Given the description of an element on the screen output the (x, y) to click on. 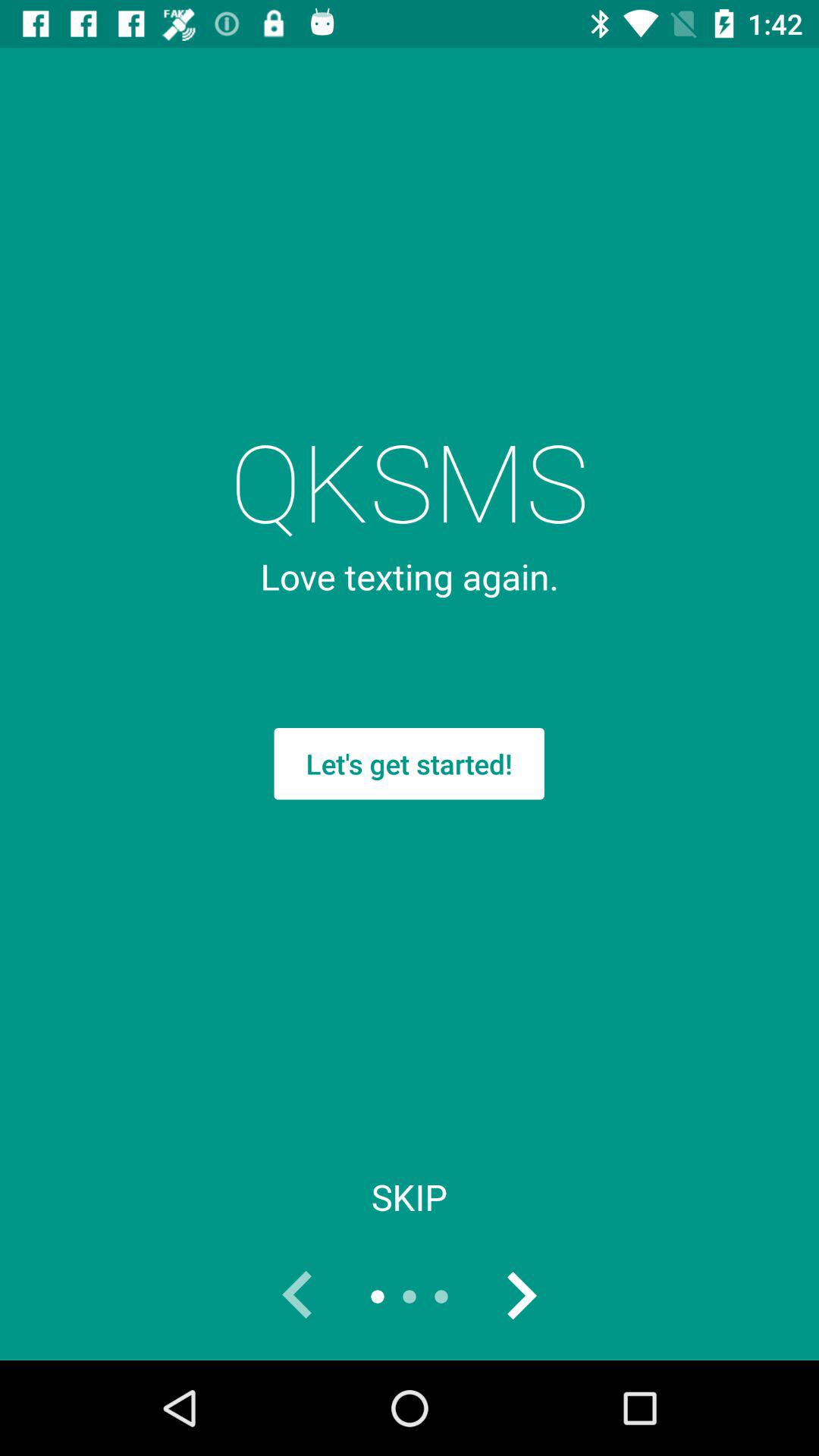
scroll until the let s get (409, 763)
